Given the description of an element on the screen output the (x, y) to click on. 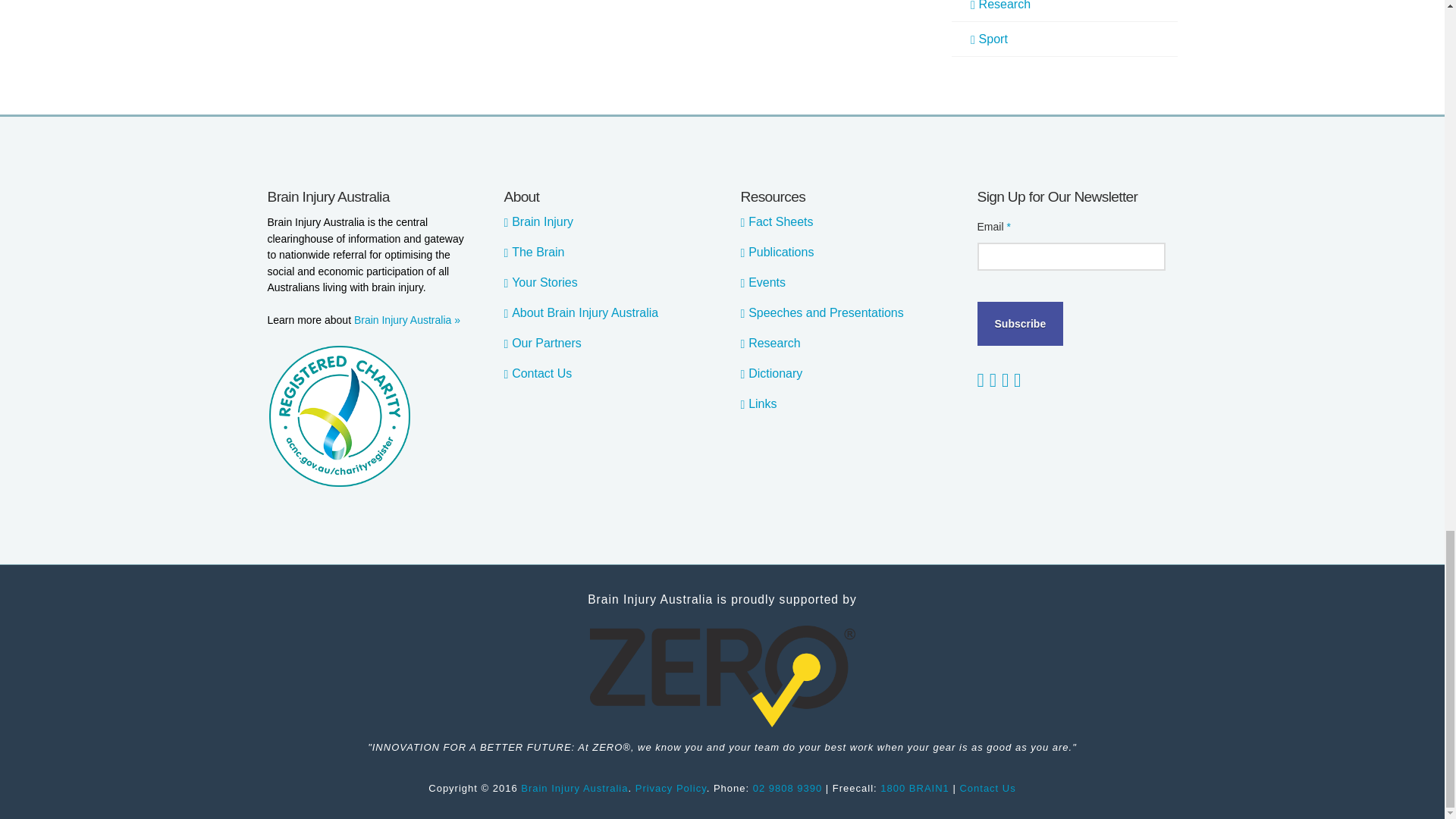
Brain Injury Australia on Facebook (992, 379)
ACNC Registered Chatiry (338, 415)
About Us (406, 319)
Subscribe (1019, 323)
Brain Injury Australia on YouTube (982, 379)
